Given the description of an element on the screen output the (x, y) to click on. 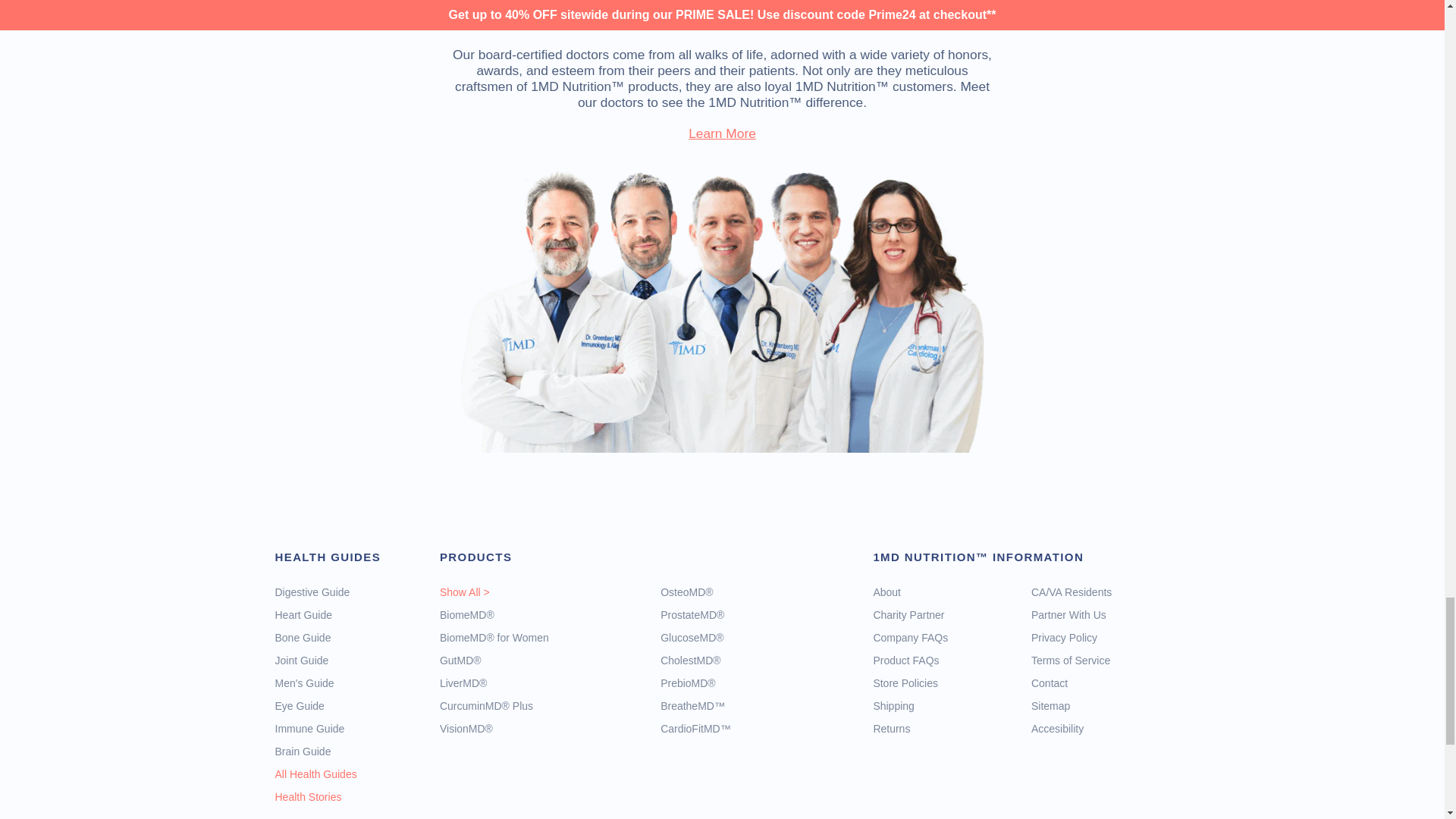
Our Doctors (721, 134)
